Given the description of an element on the screen output the (x, y) to click on. 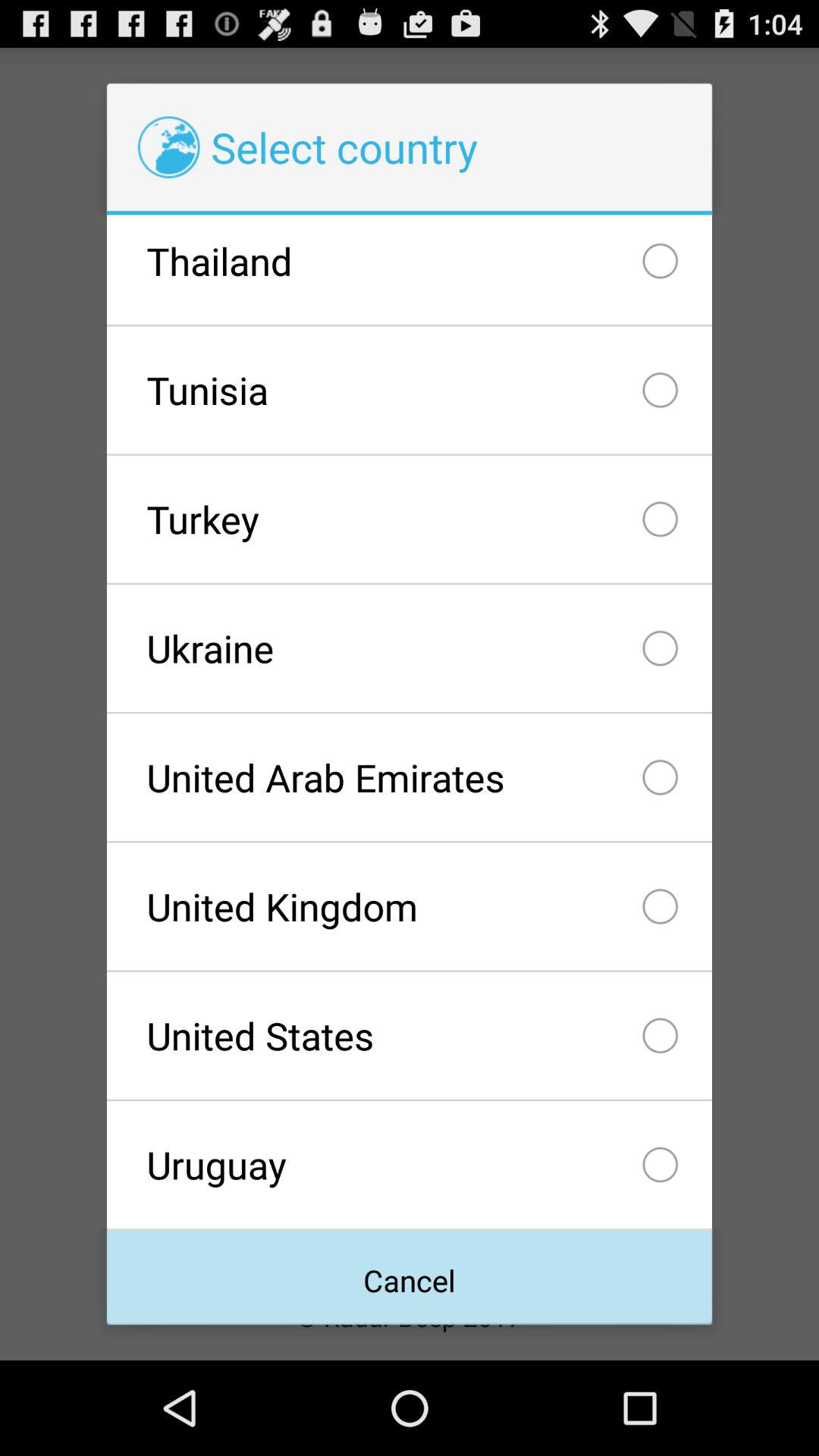
swipe to the turkey icon (409, 518)
